Given the description of an element on the screen output the (x, y) to click on. 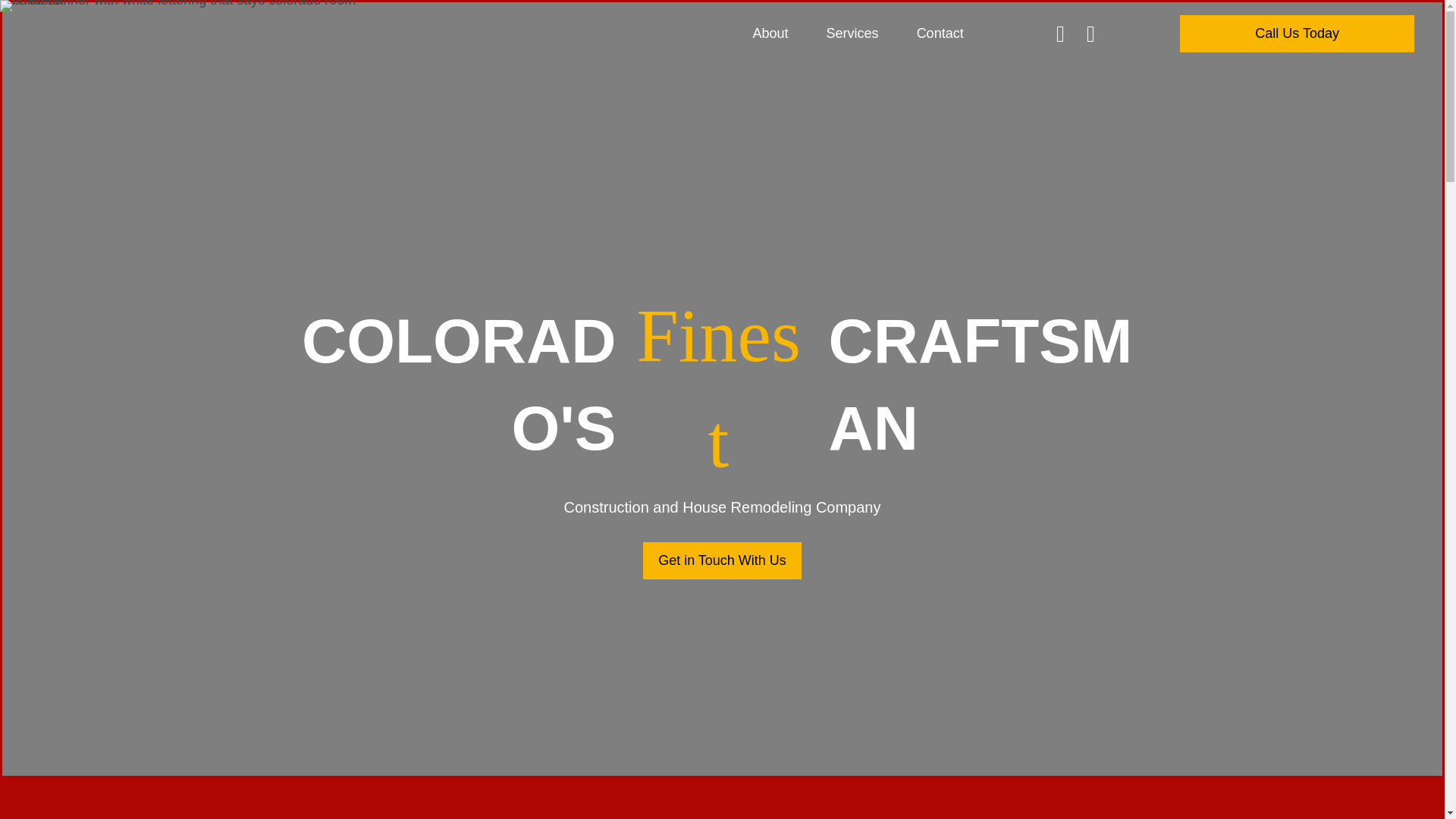
Call Us Today (1296, 33)
Services (841, 33)
About (759, 33)
business-logo (182, 6)
Contact (928, 33)
Get in Touch With Us (722, 560)
